Given the description of an element on the screen output the (x, y) to click on. 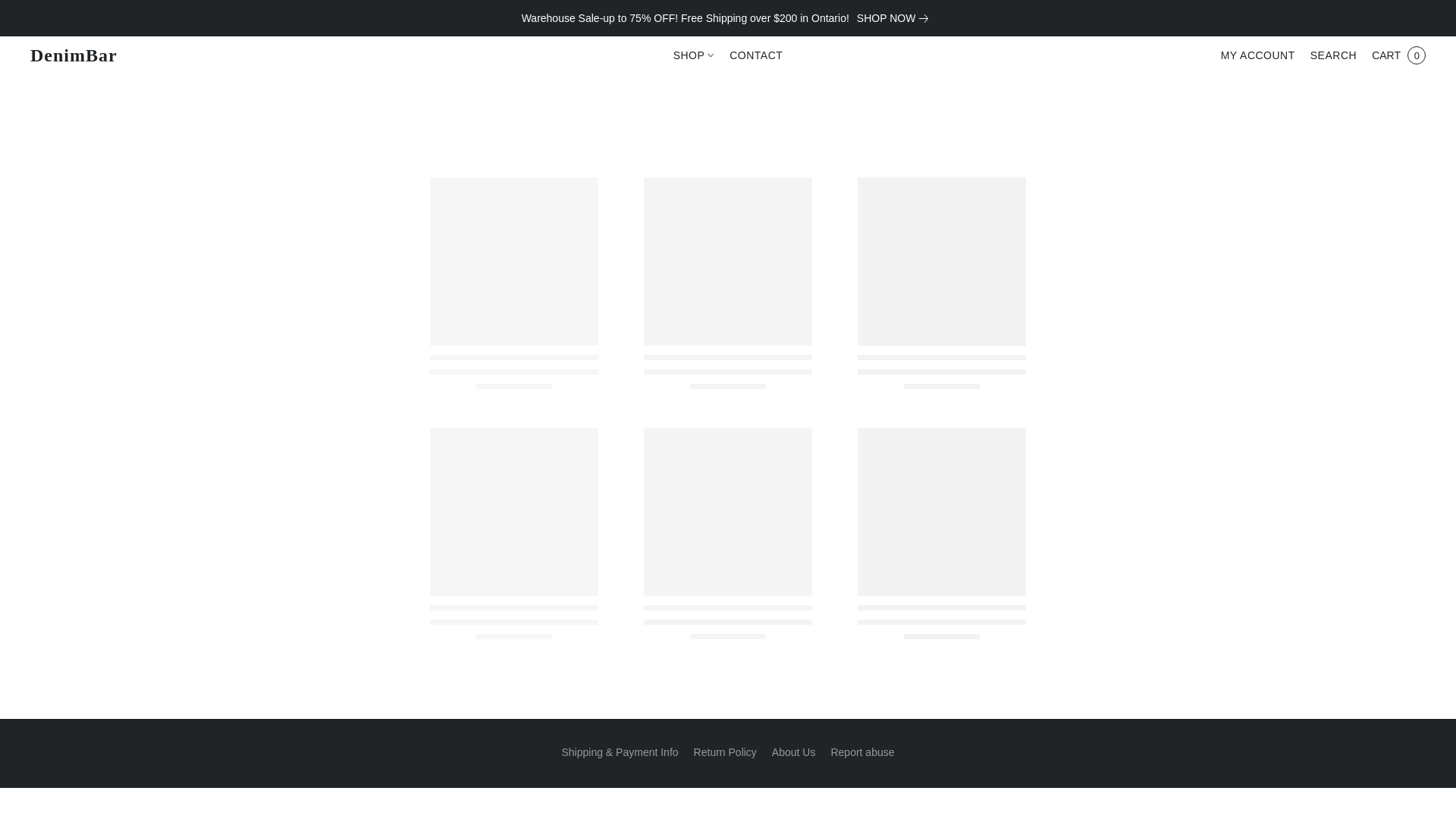
CART (1398, 55)
CONTACT (752, 54)
About Us (793, 751)
SHOP (697, 54)
Return Policy (725, 751)
SHOP NOW (895, 18)
Search the website (1333, 55)
Go to your shopping cart (1398, 55)
SEARCH (1333, 55)
DenimBar (73, 55)
MY ACCOUNT (1257, 55)
Report abuse (861, 751)
